Given the description of an element on the screen output the (x, y) to click on. 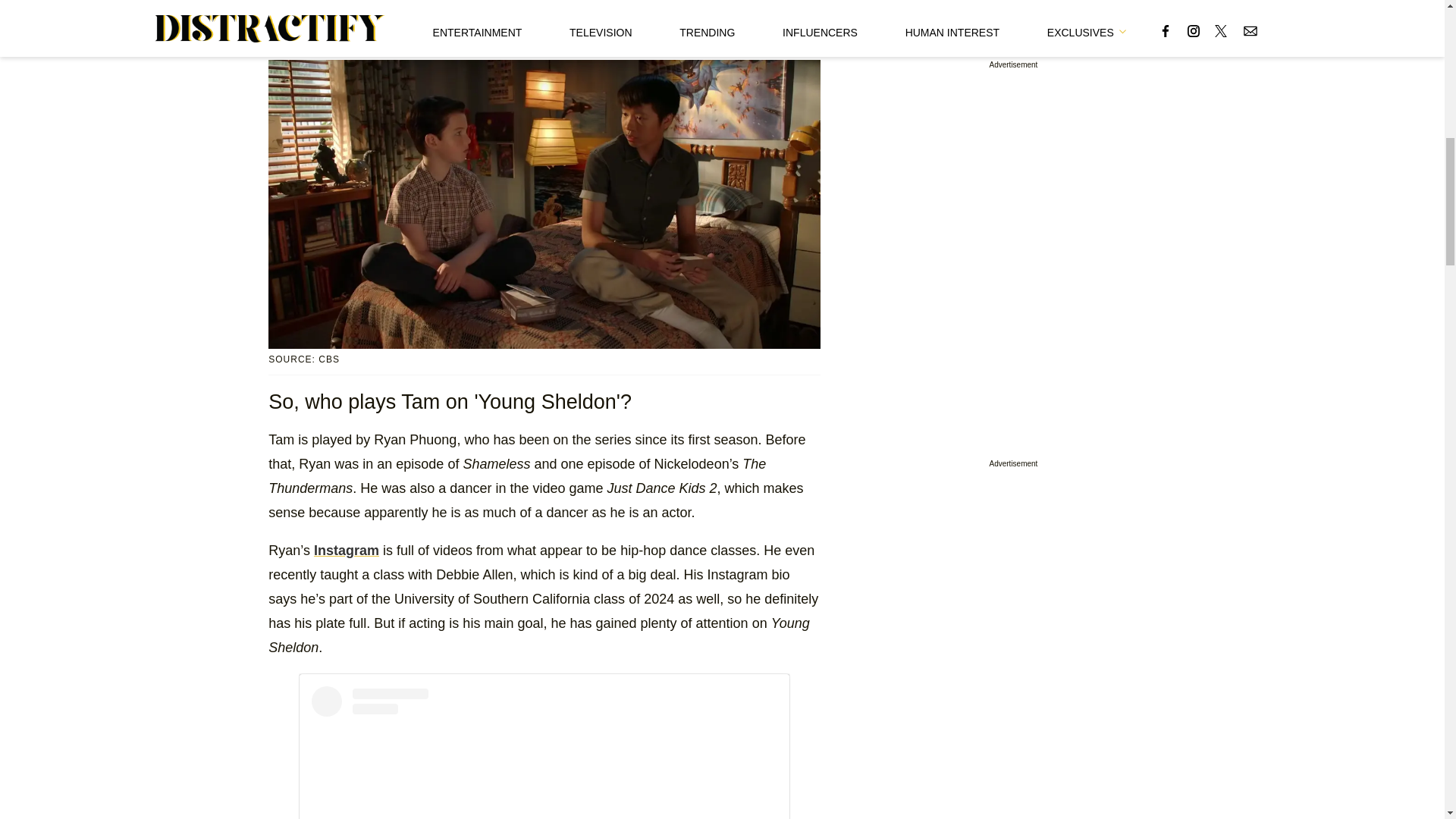
View this post on Instagram (544, 752)
Instagram (346, 549)
